Given the description of an element on the screen output the (x, y) to click on. 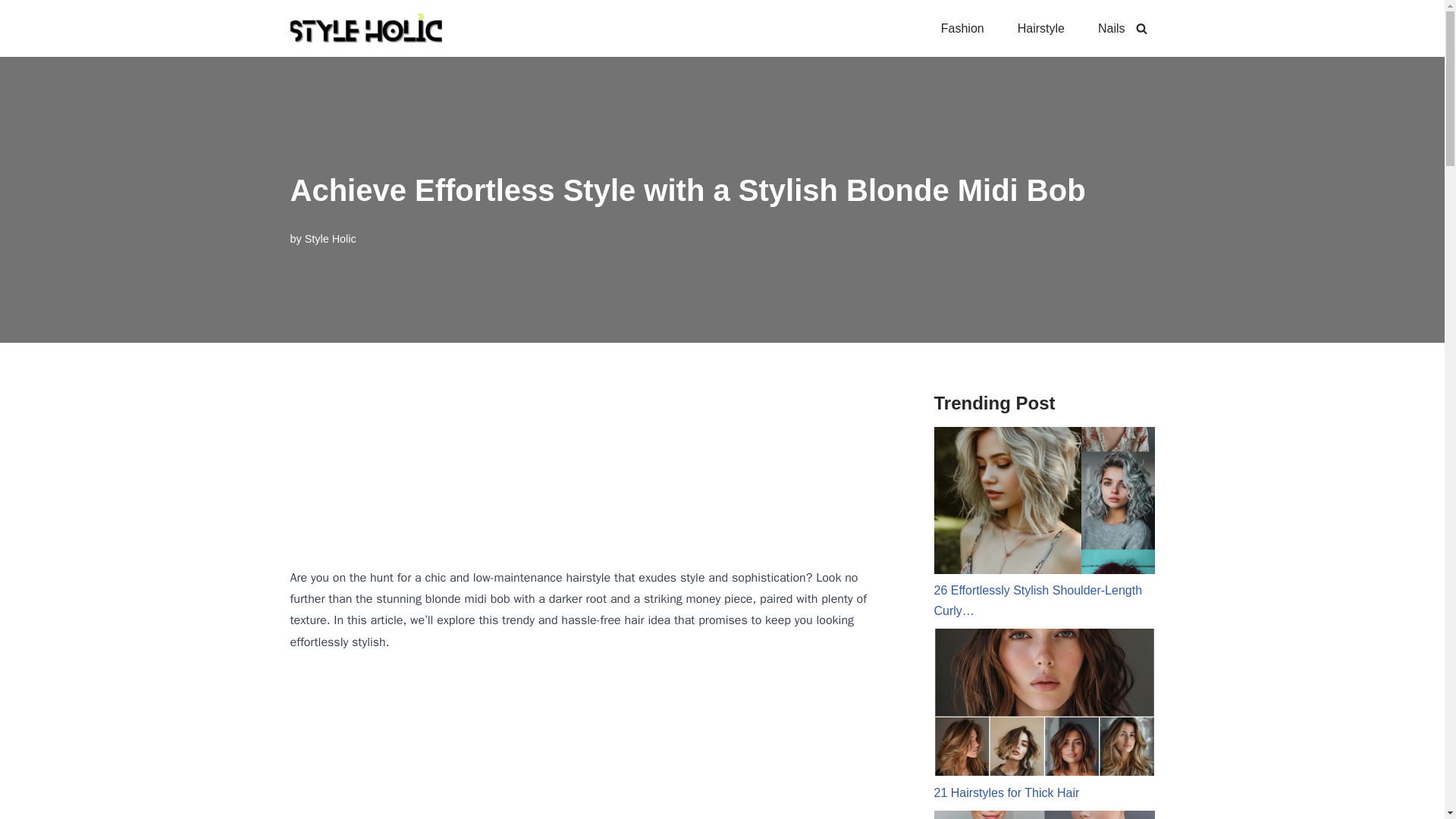
Fashion (962, 28)
Posts by Style Holic (330, 238)
Advertisement (588, 747)
20 Trendy Short Haircuts for 2024 (1044, 814)
Nails (1111, 28)
Style Holic (330, 238)
Skip to content (11, 31)
Advertisement (588, 454)
21 Hairstyles for Thick Hair (1044, 713)
Hairstyle (1040, 28)
